Given the description of an element on the screen output the (x, y) to click on. 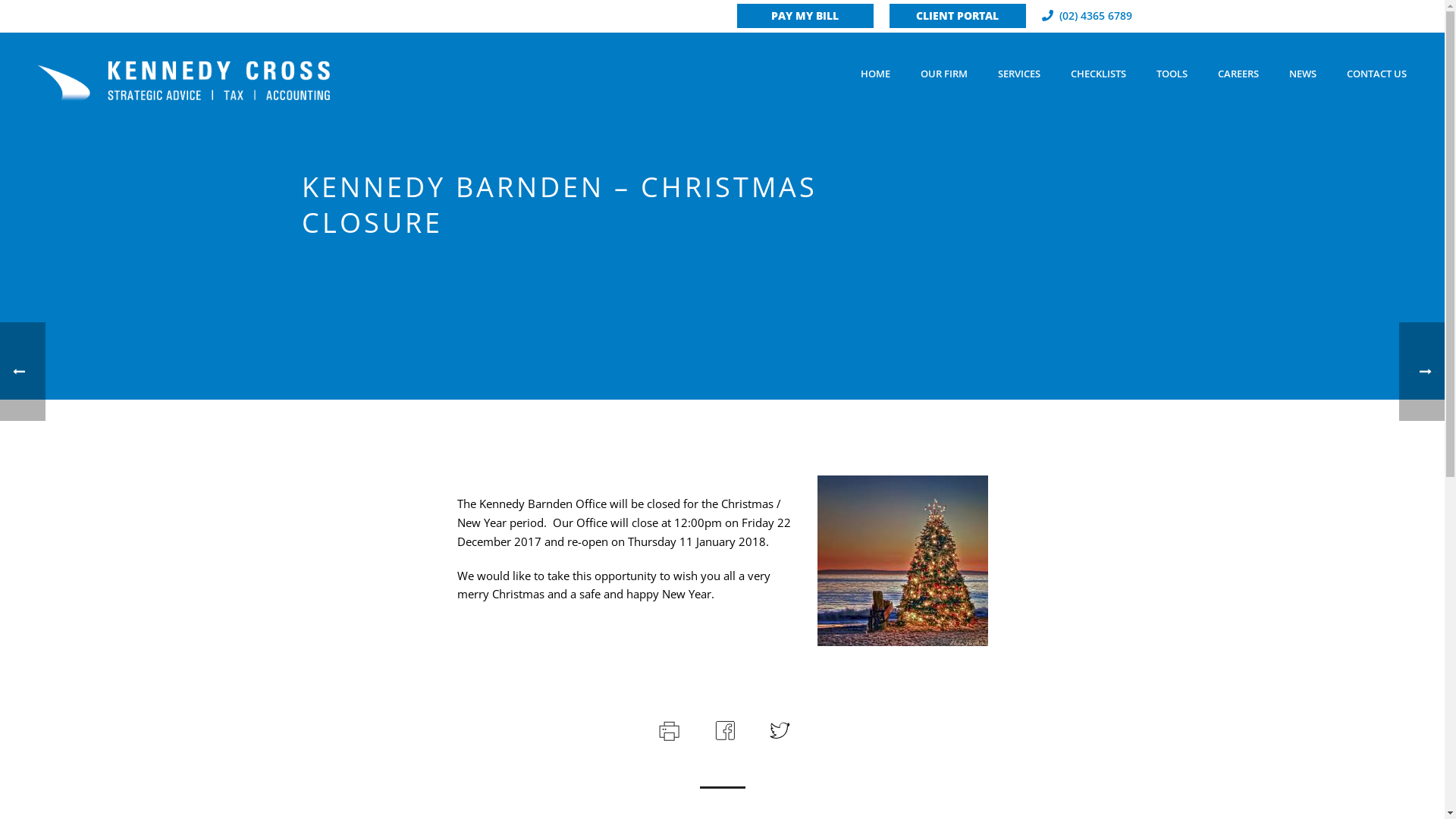
SERVICES Element type: text (1018, 73)
CAREERS Element type: text (1238, 73)
CHECKLISTS Element type: text (1098, 73)
HOME Element type: text (875, 73)
Print Element type: hover (667, 728)
NEWS Element type: text (1302, 73)
December 4, 2017 Element type: text (344, 251)
CLIENT PORTAL Element type: text (956, 15)
Chartered Accountants Element type: hover (172, 71)
CONTACT US Element type: text (1376, 73)
PAY MY BILL Element type: text (805, 15)
OUR FIRM Element type: text (943, 73)
(02) 4365 6789 Element type: text (1094, 15)
TOOLS Element type: text (1171, 73)
